Given the description of an element on the screen output the (x, y) to click on. 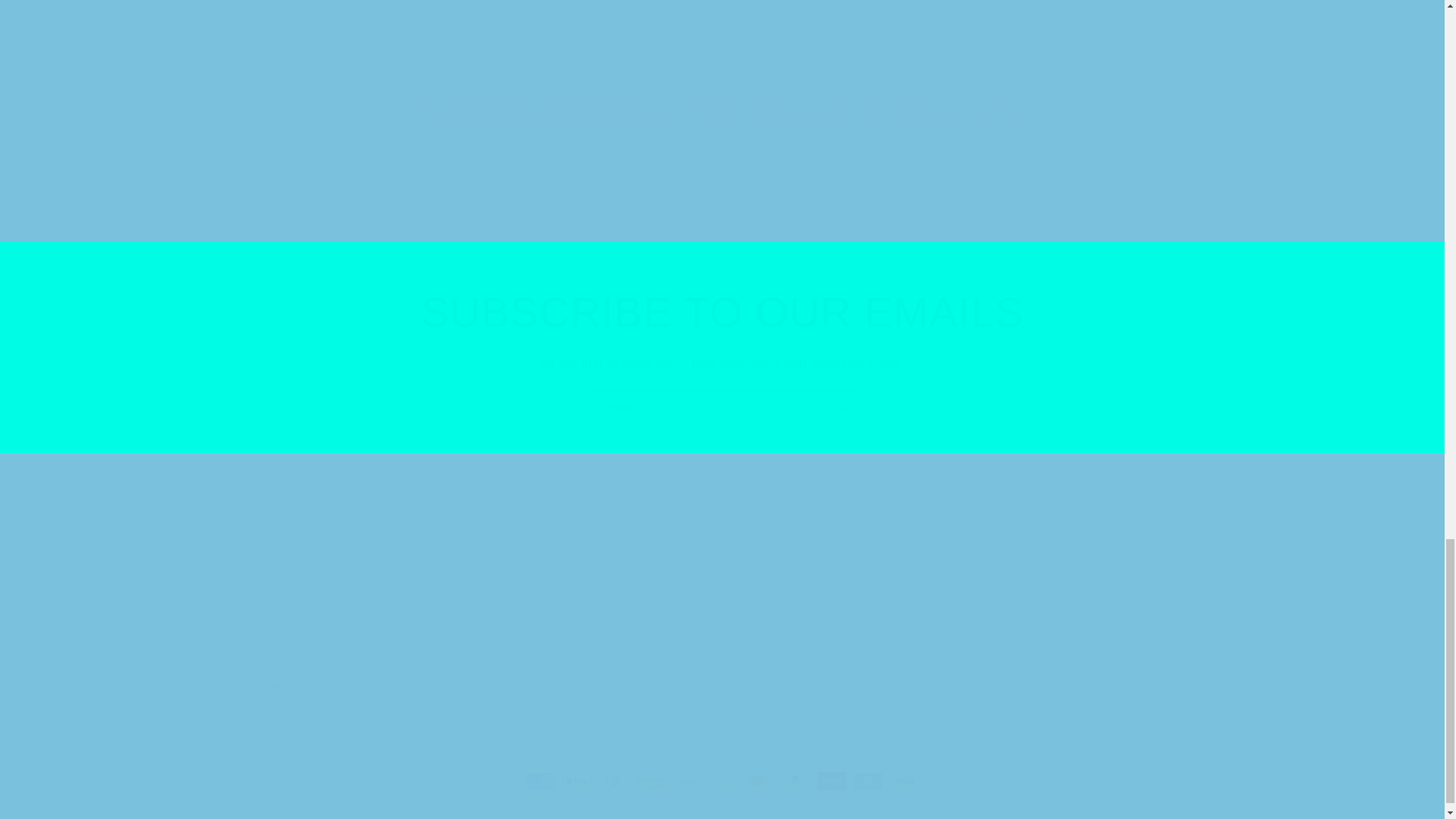
Email (722, 208)
Email (332, 586)
SUBSCRIBE TO OUR EMAILS (721, 682)
SUBSCRIBE TO OUR EMAILS (722, 407)
